Given the description of an element on the screen output the (x, y) to click on. 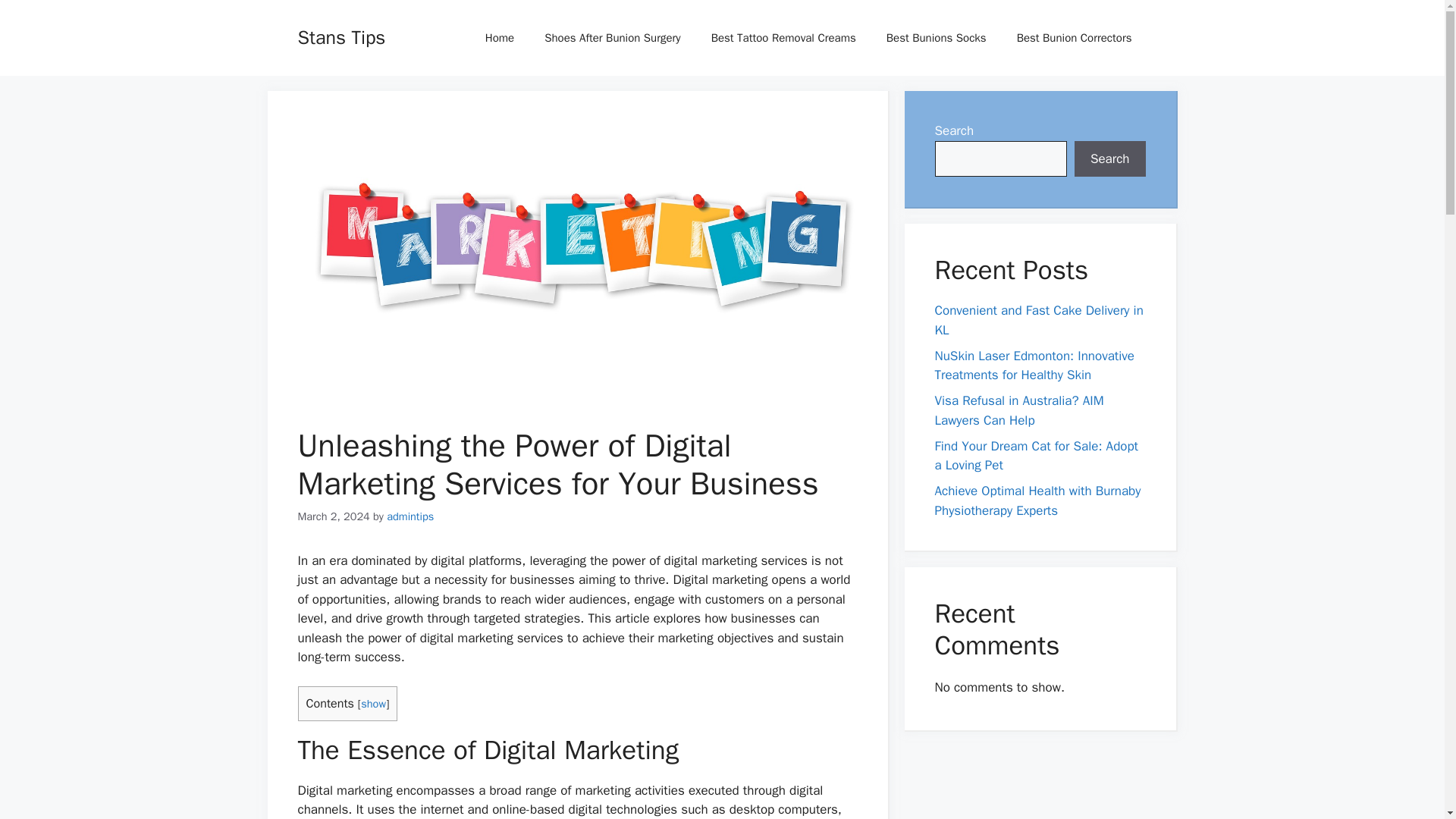
Home (499, 37)
Find Your Dream Cat for Sale: Adopt a Loving Pet (1036, 456)
show (373, 703)
admintips (410, 516)
Stans Tips (341, 37)
Best Bunion Correctors (1074, 37)
Convenient and Fast Cake Delivery in KL (1038, 320)
Best Bunions Socks (935, 37)
Search (1109, 158)
Achieve Optimal Health with Burnaby Physiotherapy Experts (1037, 500)
Visa Refusal in Australia? AIM Lawyers Can Help (1018, 410)
Best Tattoo Removal Creams (782, 37)
Shoes After Bunion Surgery (612, 37)
View all posts by admintips (410, 516)
